Given the description of an element on the screen output the (x, y) to click on. 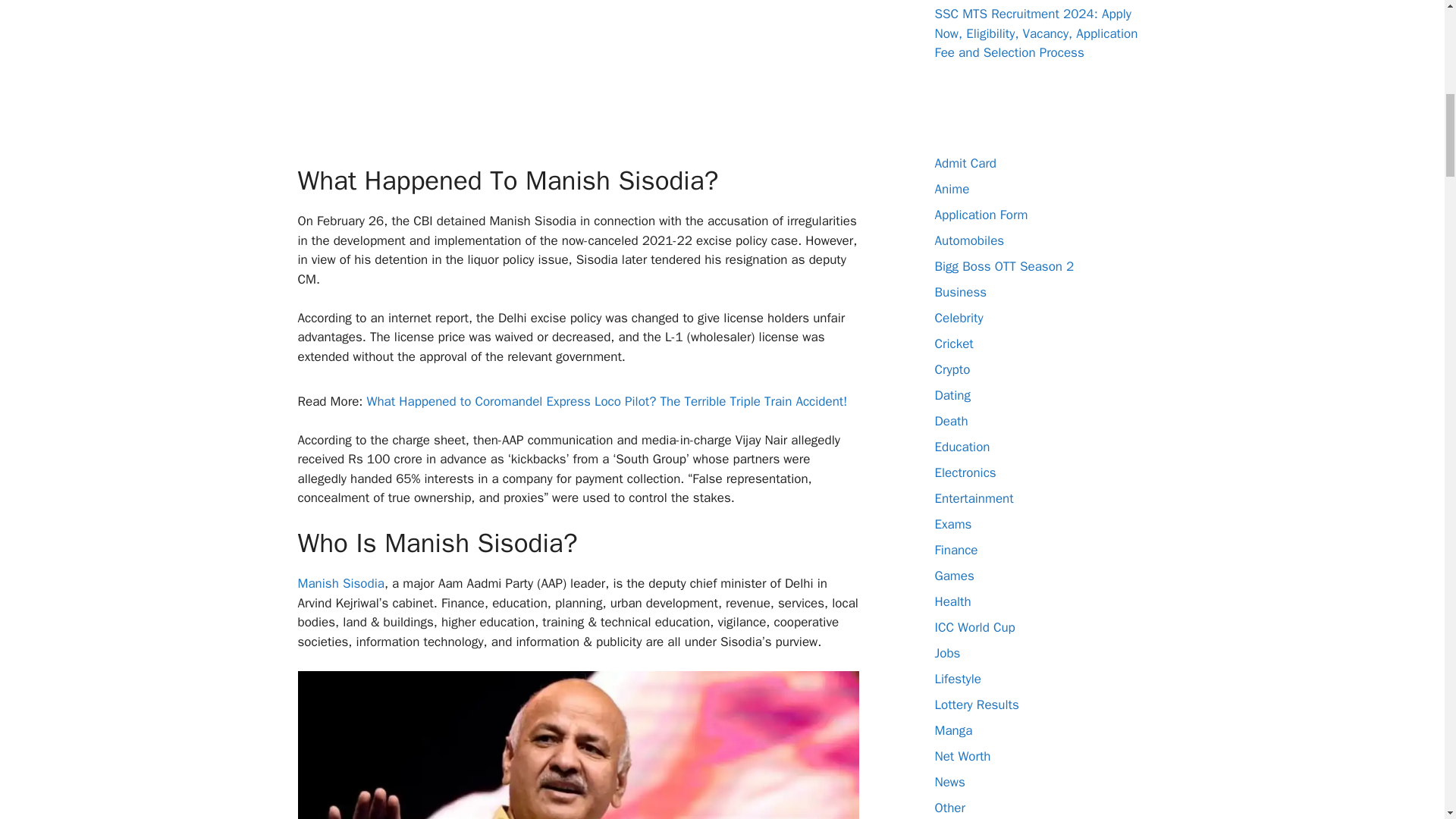
Advertisement (620, 79)
Manish Sisodia (340, 583)
